Given the description of an element on the screen output the (x, y) to click on. 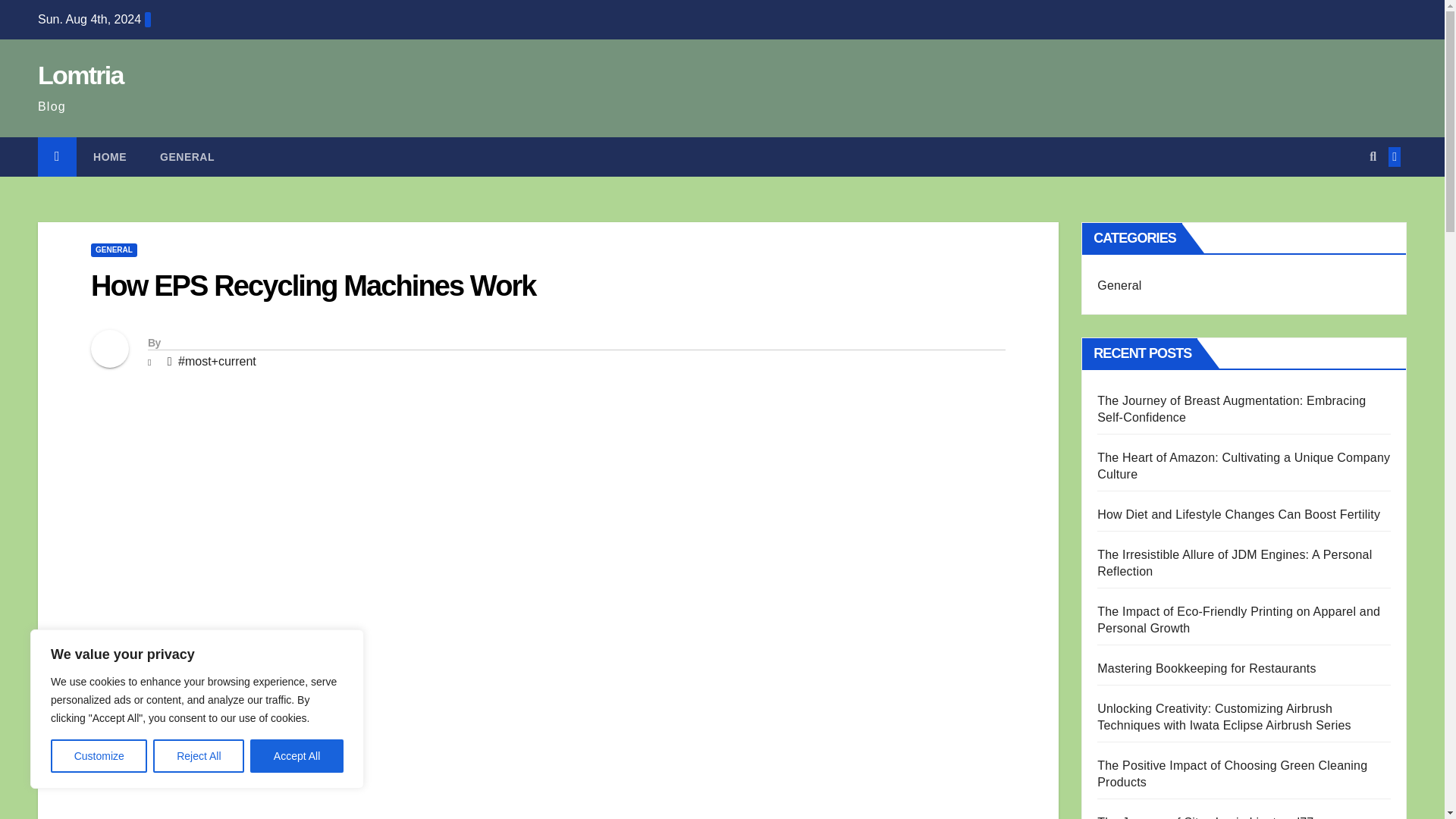
Lomtria (80, 74)
Permalink to: How EPS Recycling Machines Work (312, 286)
How EPS Recycling Machines Work (312, 286)
GENERAL (186, 156)
GENERAL (113, 250)
General (186, 156)
Customize (98, 756)
Accept All (296, 756)
HOME (109, 156)
Home (109, 156)
